Given the description of an element on the screen output the (x, y) to click on. 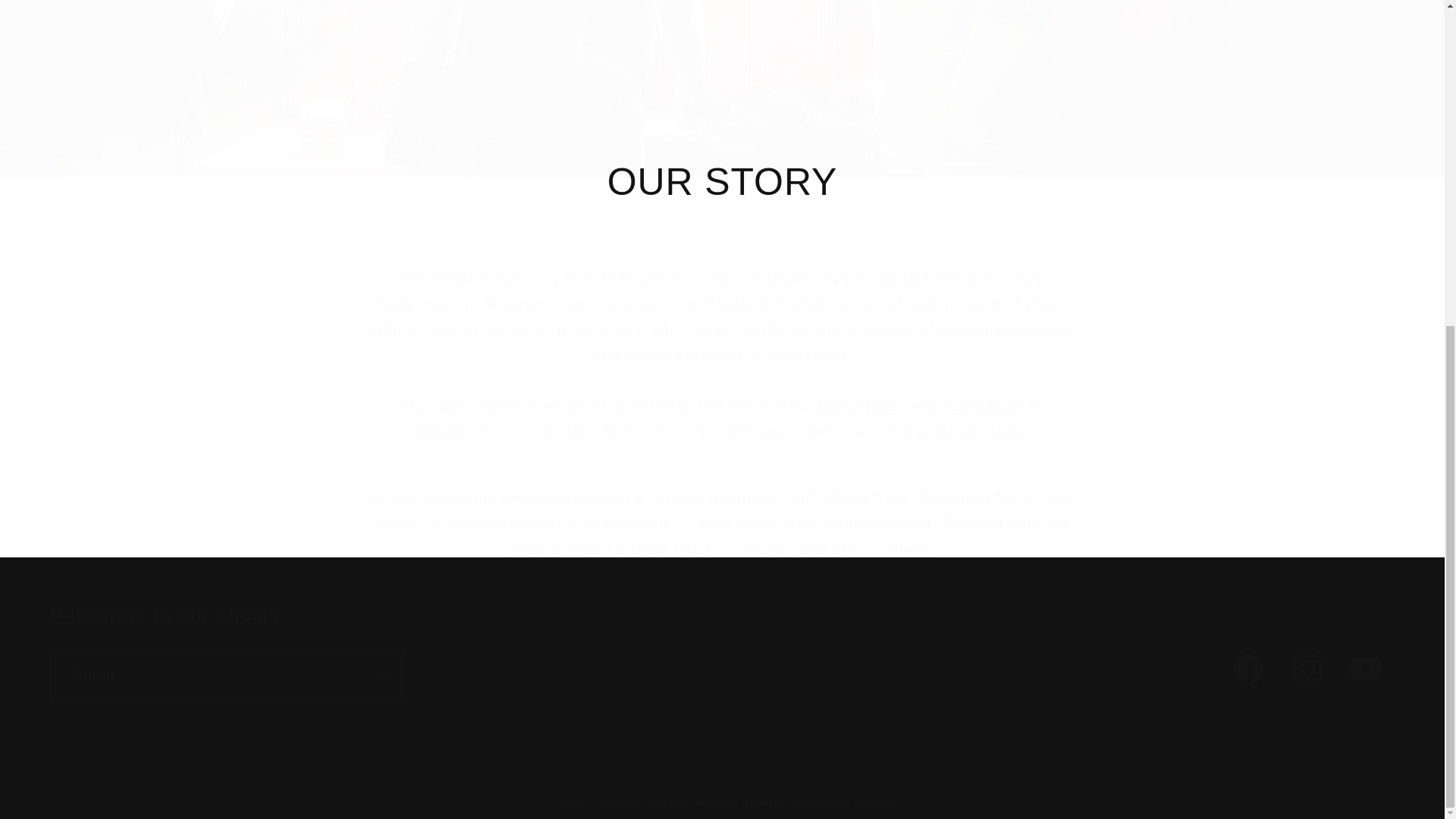
Christmas in Prison (728, 417)
OUR STORY (722, 182)
Powered by Shopify (841, 802)
Facebook (1249, 668)
YouTube (1365, 668)
Instagram (1307, 668)
John Prine (721, 651)
